Given the description of an element on the screen output the (x, y) to click on. 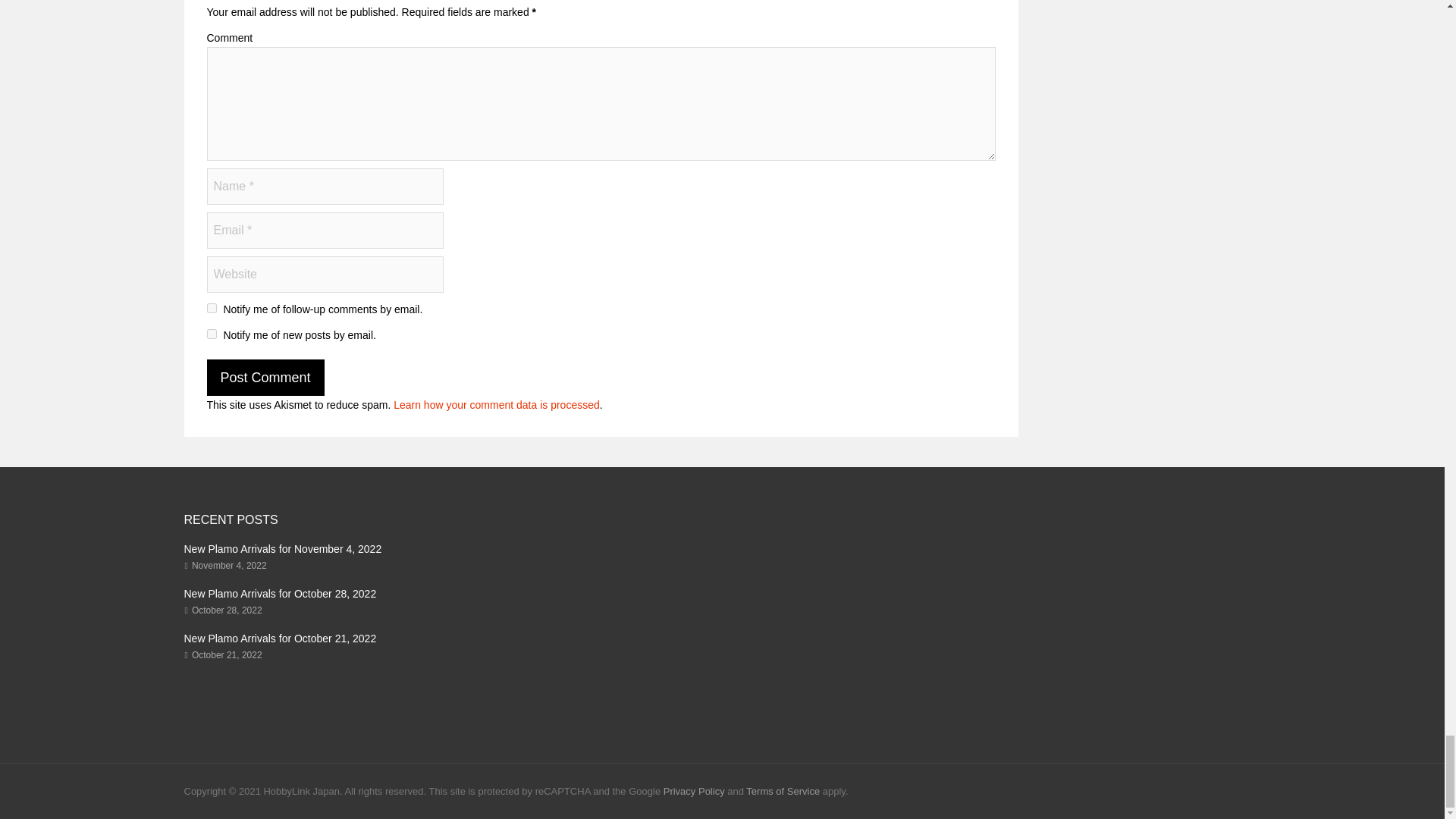
subscribe (210, 334)
subscribe (210, 307)
Post Comment (264, 377)
